Given the description of an element on the screen output the (x, y) to click on. 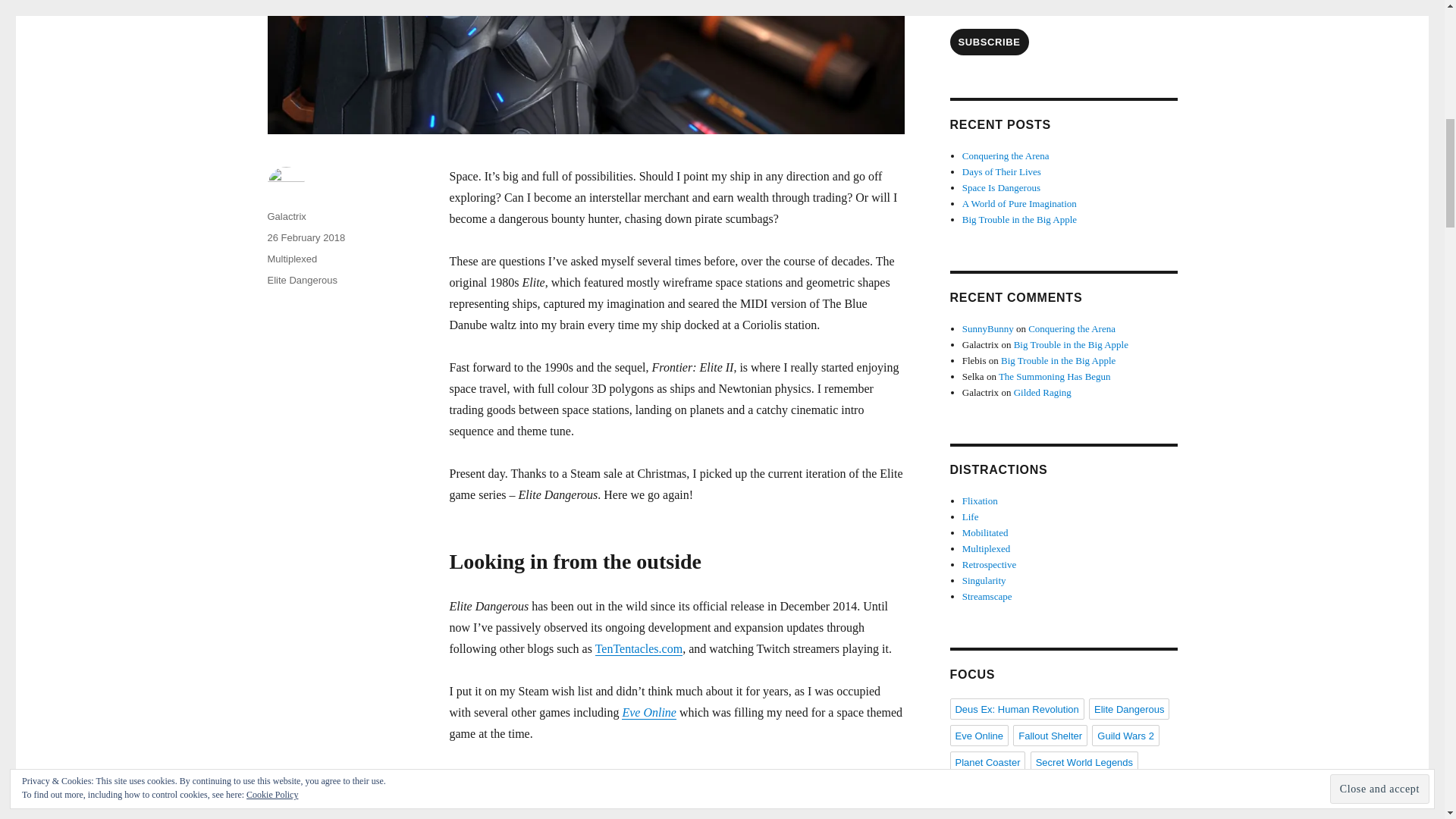
TenTentacles.com (638, 647)
Elite Dangerous (301, 279)
26 February 2018 (305, 237)
Galactrix (285, 215)
Multiplexed (291, 258)
Space Is Dangerous (1001, 187)
SUBSCRIBE (988, 41)
Conquering the Arena (1005, 155)
Eve Online (649, 711)
A World of Pure Imagination (1019, 203)
